Given the description of an element on the screen output the (x, y) to click on. 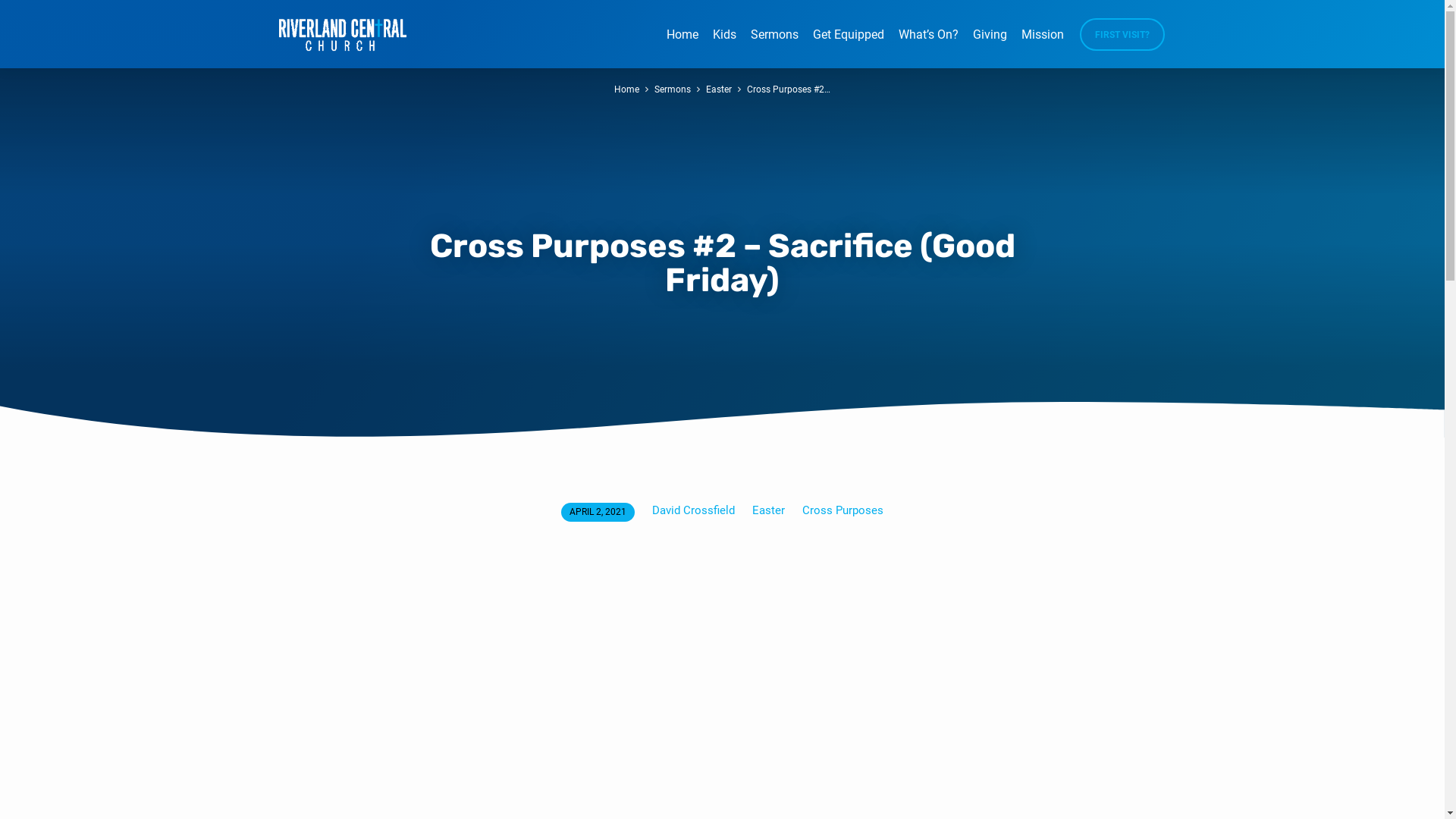
Kids Element type: text (724, 43)
Sermons Element type: text (672, 88)
Sermons Element type: text (774, 43)
FIRST VISIT? Element type: text (1121, 34)
Home Element type: text (626, 88)
Get Equipped Element type: text (848, 43)
Easter Element type: text (718, 88)
Mission Element type: text (1041, 43)
David Crossfield Element type: text (693, 510)
Home Element type: text (681, 43)
Giving Element type: text (989, 43)
Easter Element type: text (768, 510)
Cross Purposes Element type: text (842, 510)
